Given the description of an element on the screen output the (x, y) to click on. 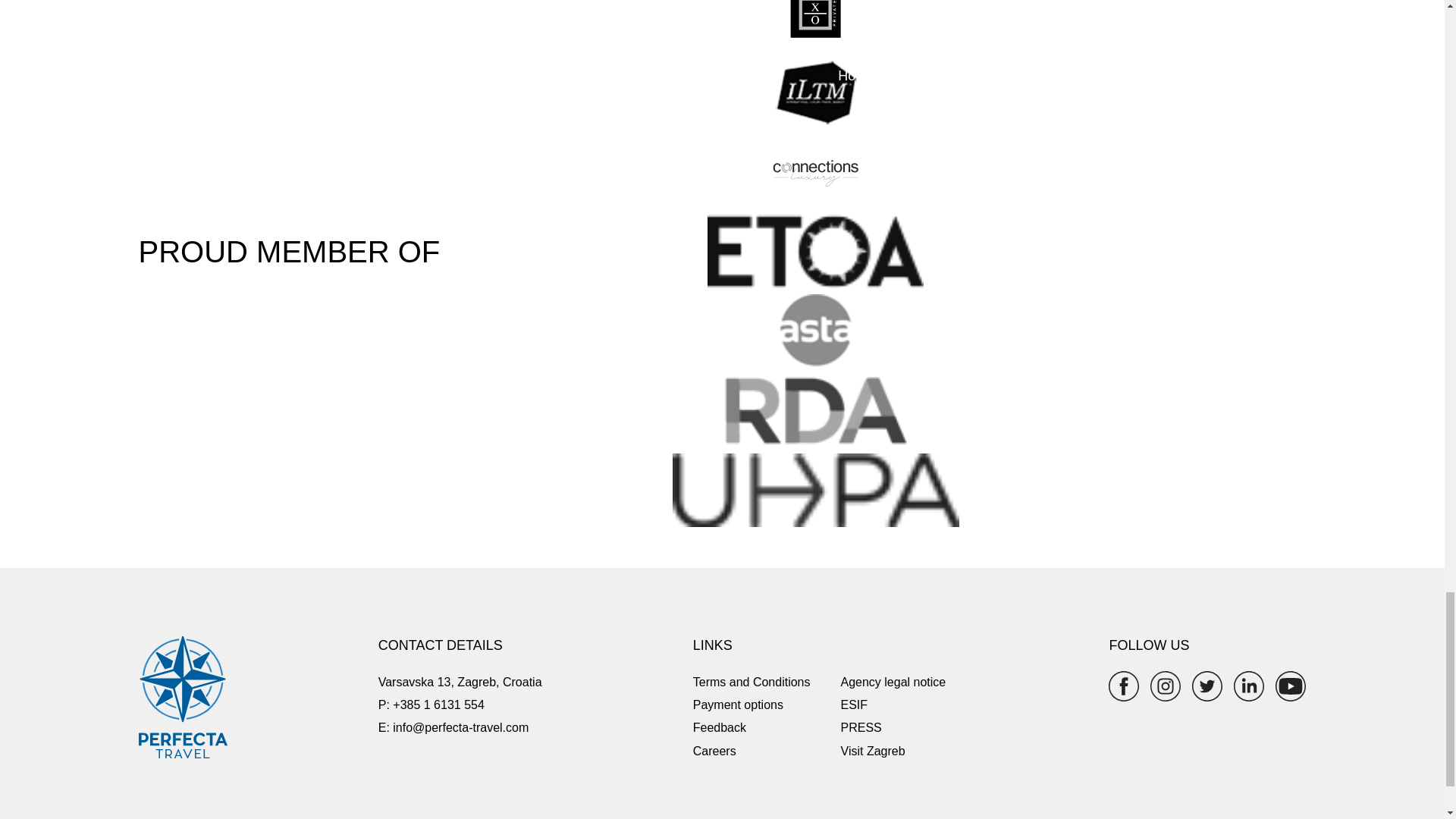
Payment options (738, 704)
Feedback (719, 727)
Terms and Conditions (751, 681)
